Given the description of an element on the screen output the (x, y) to click on. 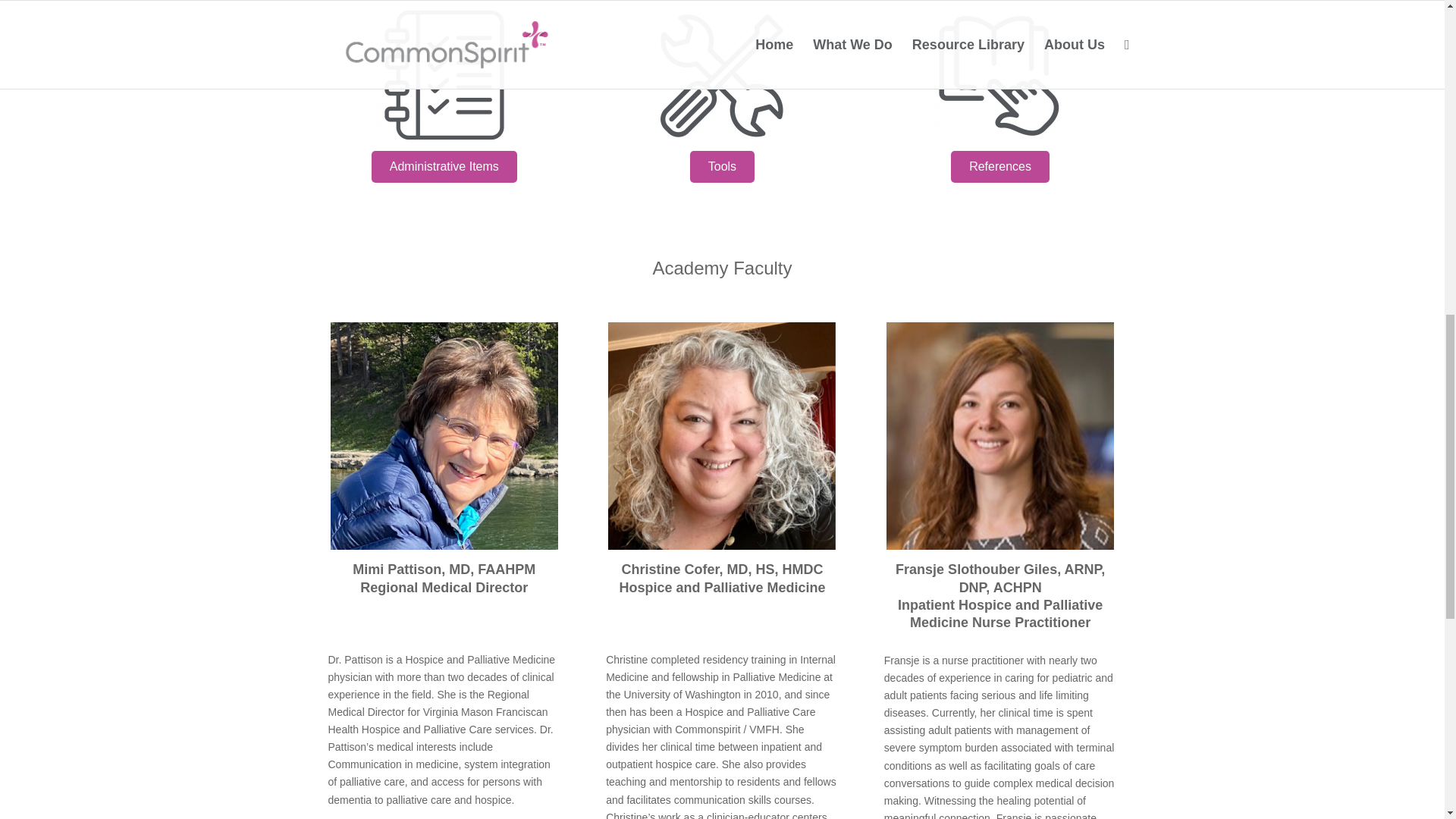
2 (721, 74)
1 (999, 435)
3 (443, 435)
3 (999, 74)
Click Here (443, 166)
Click Here (722, 166)
2 (721, 435)
Click Here (999, 166)
Administrative Items (443, 166)
References (999, 166)
